Given the description of an element on the screen output the (x, y) to click on. 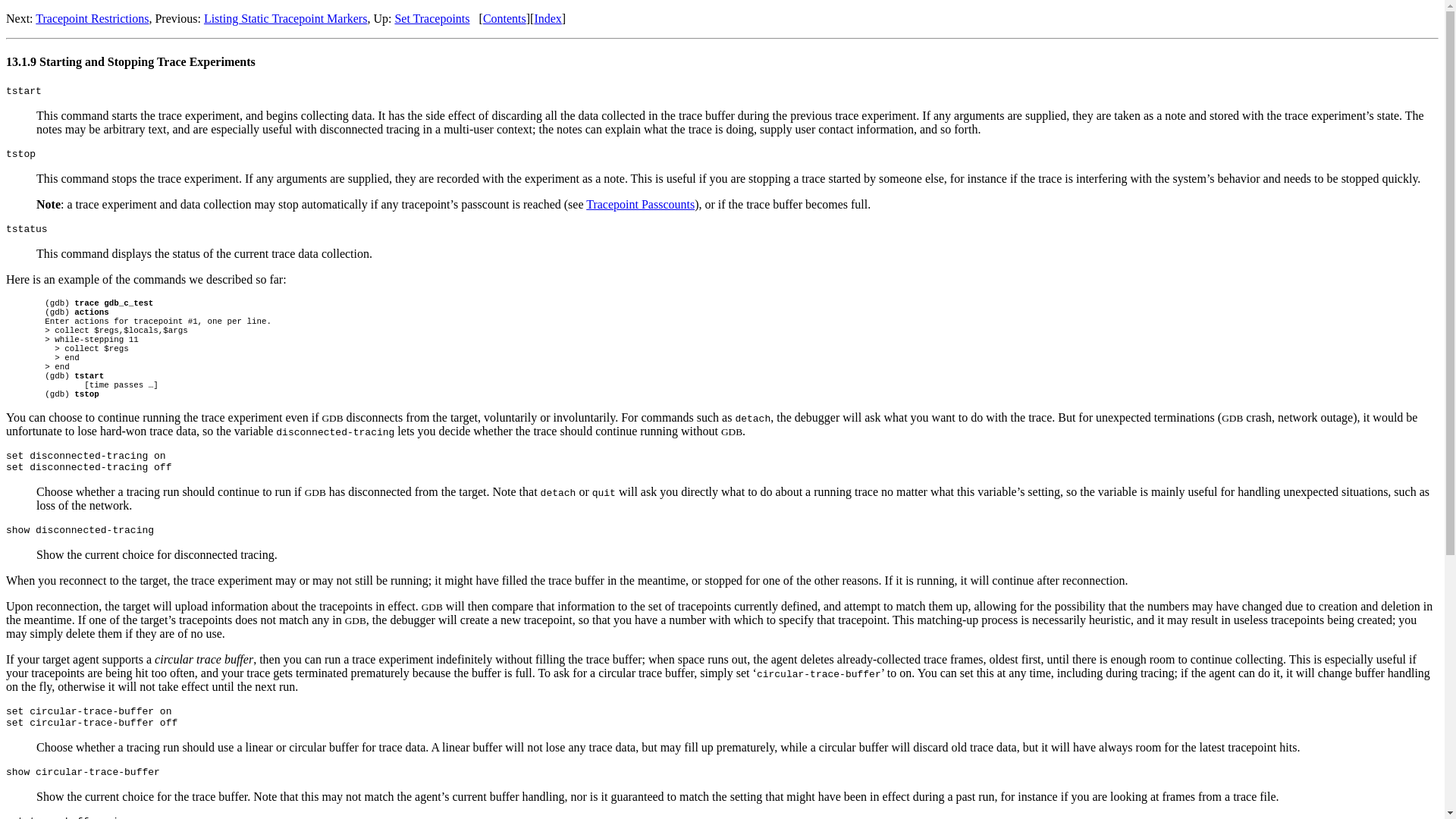
Index (547, 18)
Tracepoint Passcounts (640, 204)
Set Tracepoints (431, 18)
Listing Static Tracepoint Markers (285, 18)
Contents (504, 18)
Table of contents (504, 18)
Index (547, 18)
Tracepoint Restrictions (91, 18)
